Given the description of an element on the screen output the (x, y) to click on. 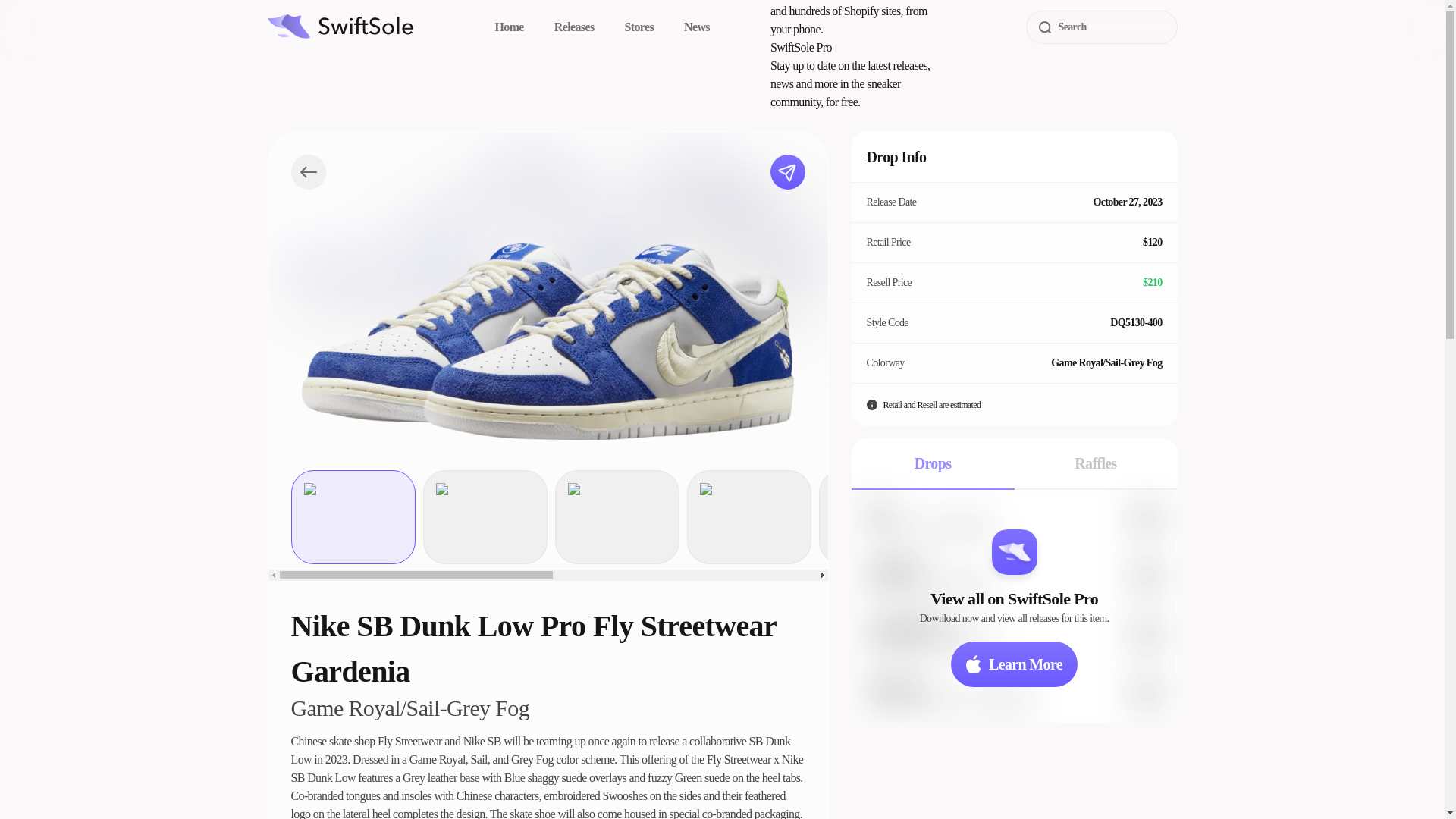
Releases (574, 26)
Stores (638, 26)
Raffles (1095, 463)
Home (508, 26)
Learn More (1013, 664)
News (697, 26)
Drops (931, 463)
Search (1100, 27)
